Given the description of an element on the screen output the (x, y) to click on. 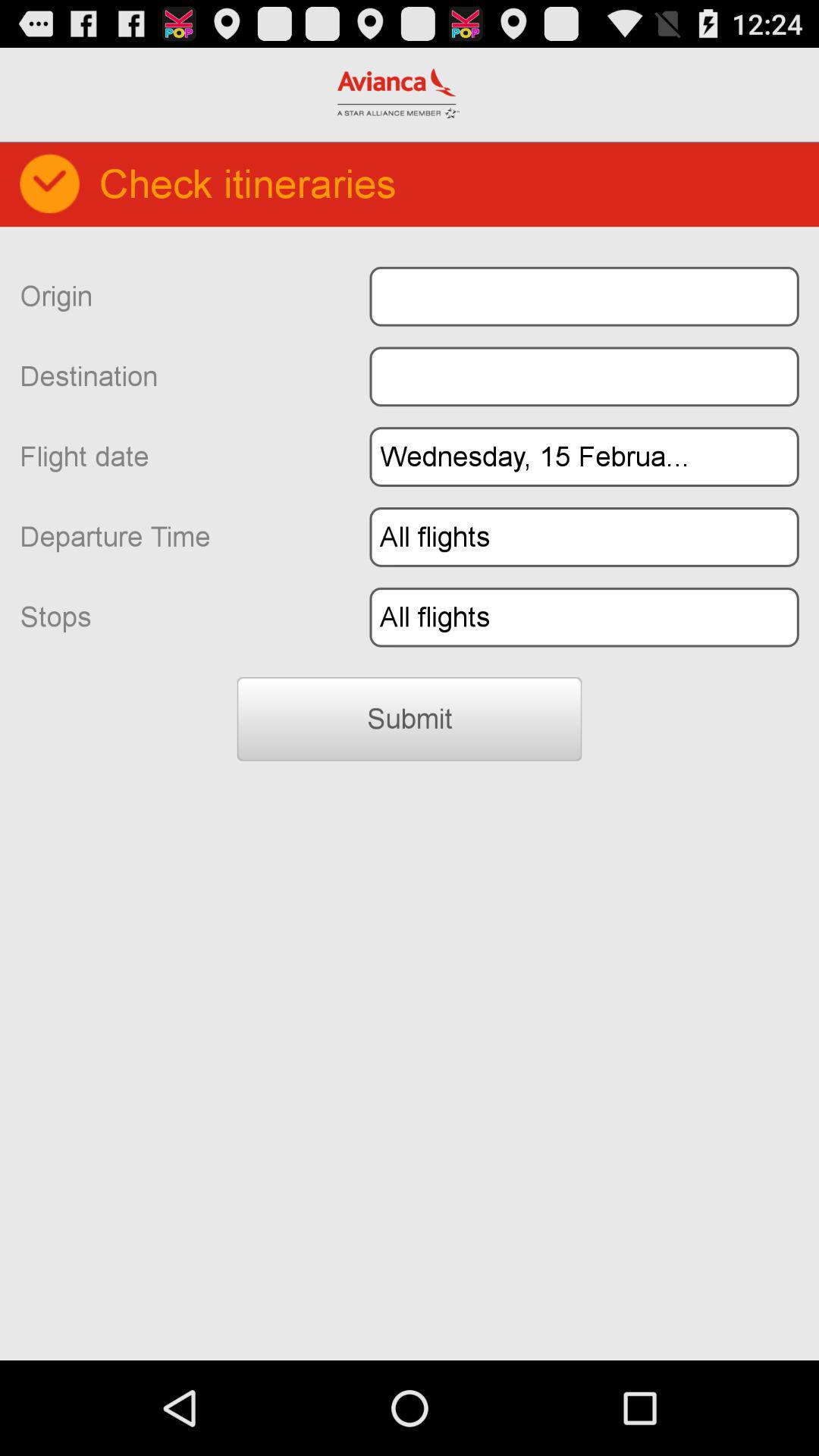
choose item to the right of the destination item (584, 376)
